Given the description of an element on the screen output the (x, y) to click on. 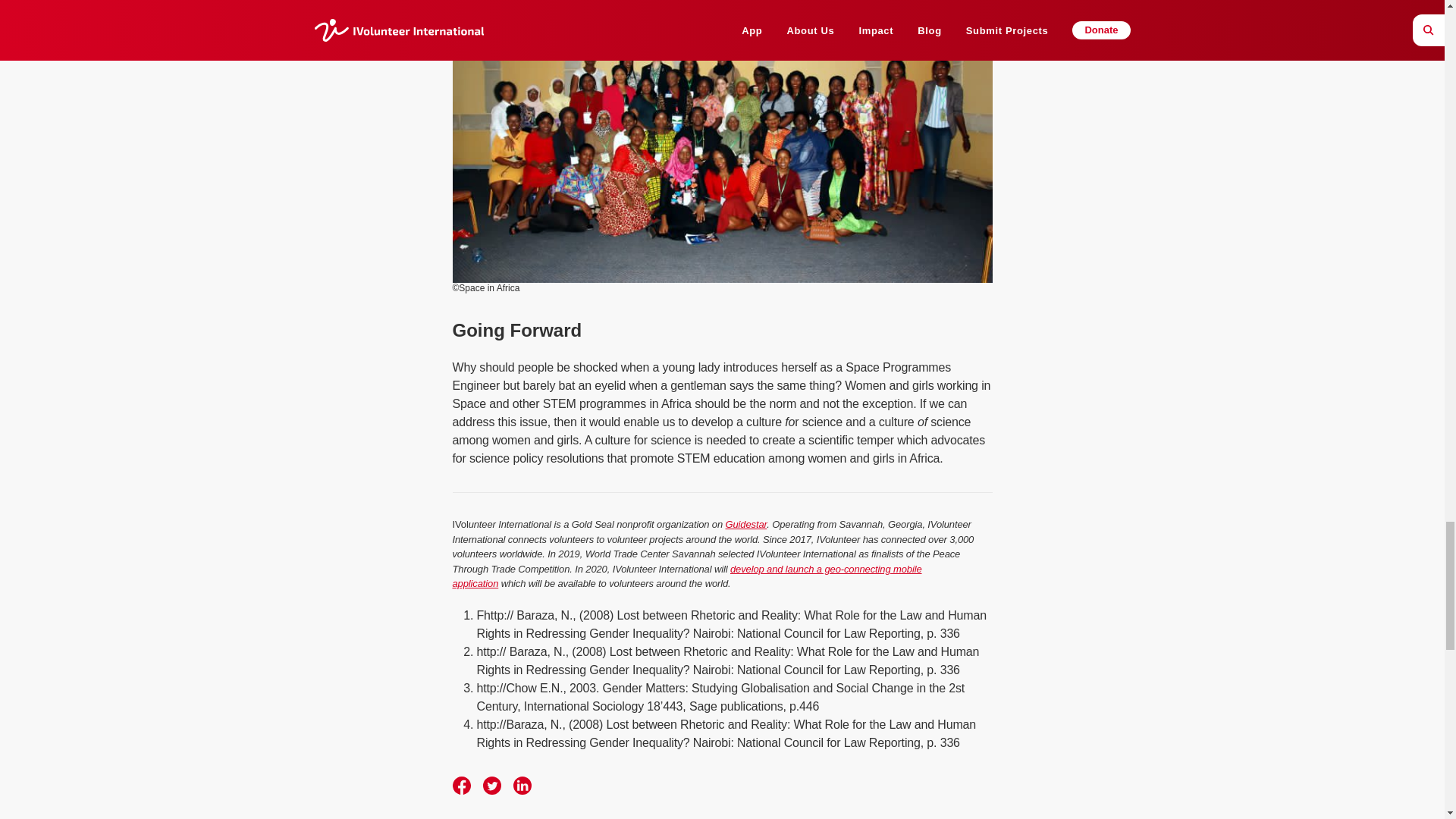
develop and launch a geo-connecting mobile application (686, 576)
Guidestar (746, 523)
